Given the description of an element on the screen output the (x, y) to click on. 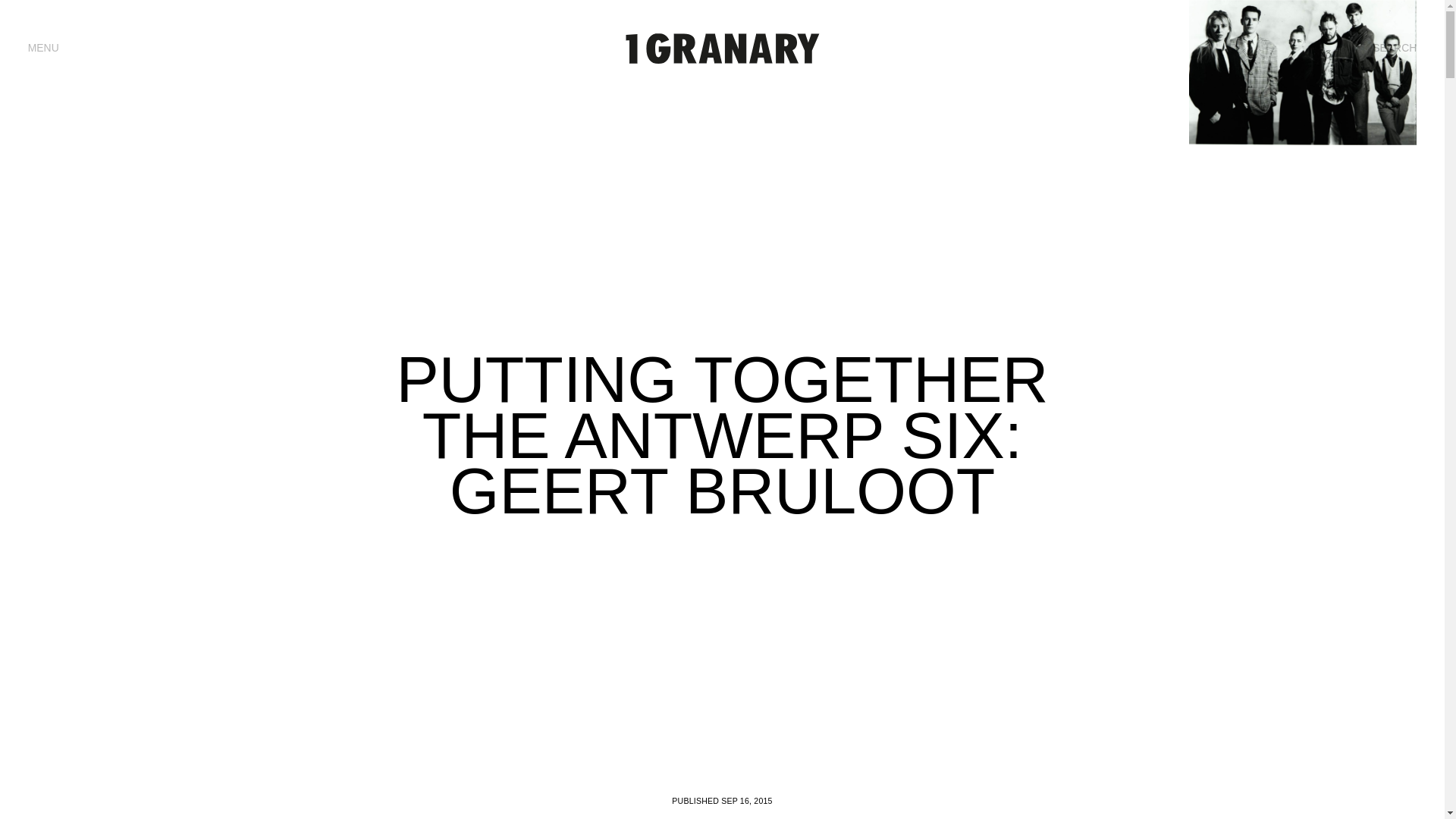
SEARCH (1394, 48)
MENU (43, 48)
